Given the description of an element on the screen output the (x, y) to click on. 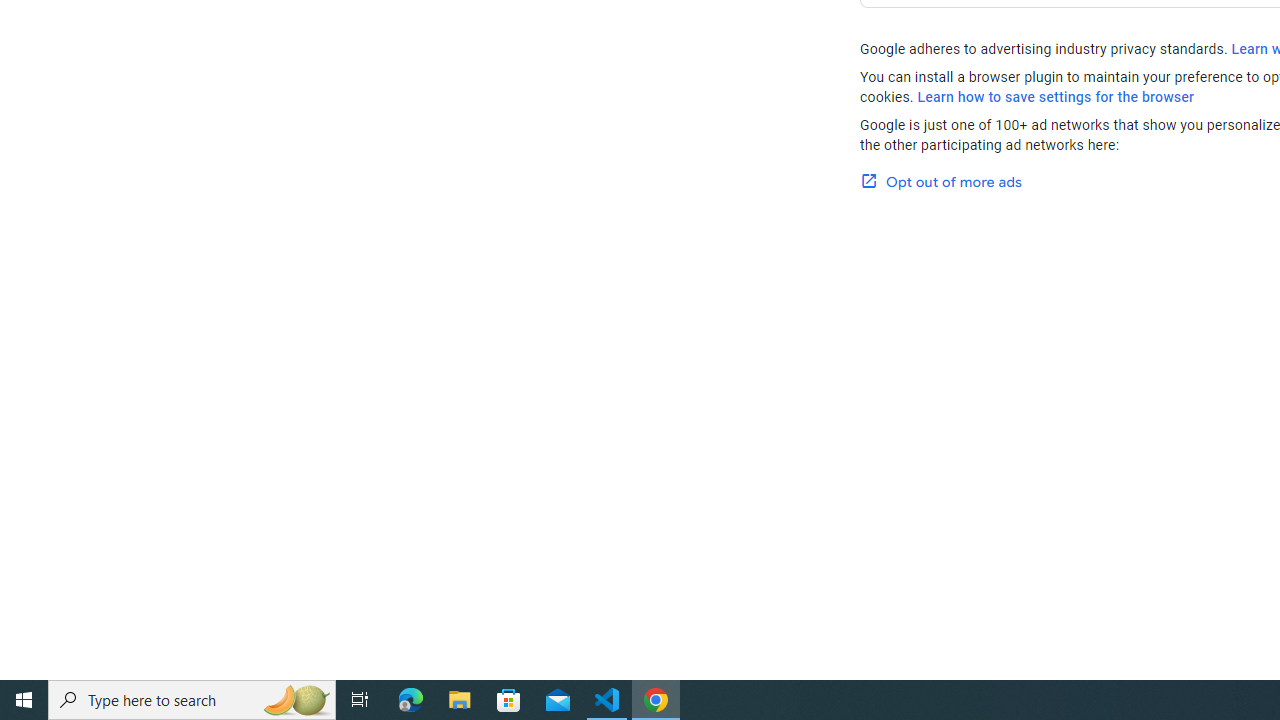
Learn how to save settings for the browser (1055, 97)
